Given the description of an element on the screen output the (x, y) to click on. 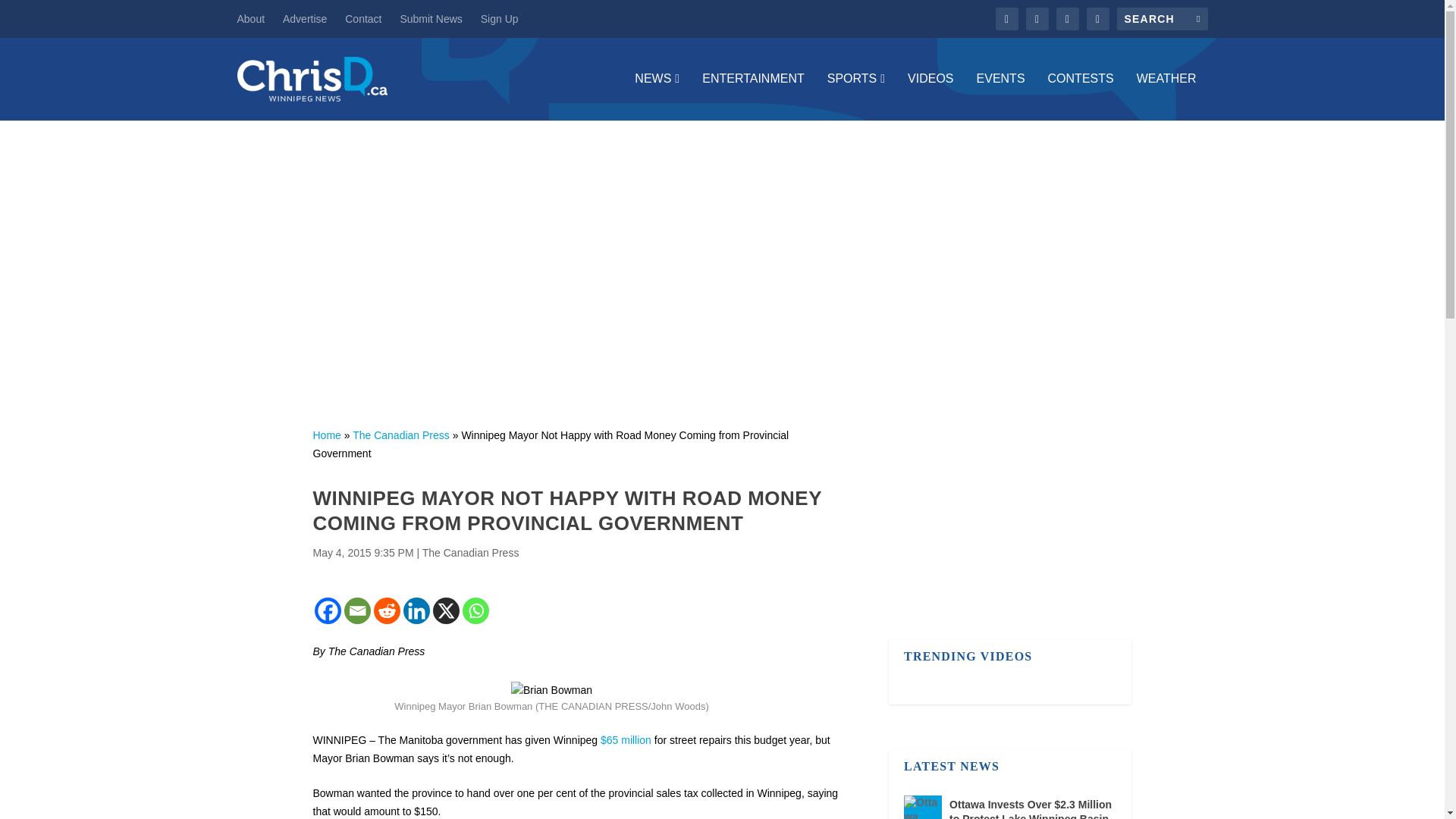
Contact (363, 18)
Advertise (304, 18)
Whatsapp (476, 610)
EVENTS (1000, 96)
The Canadian Press (400, 435)
Reddit (385, 610)
WEATHER (1166, 96)
Submit News (429, 18)
NEWS (656, 96)
Search for: (1161, 18)
VIDEOS (930, 96)
SPORTS (856, 96)
Home (326, 435)
X (445, 610)
Sign Up (499, 18)
